Given the description of an element on the screen output the (x, y) to click on. 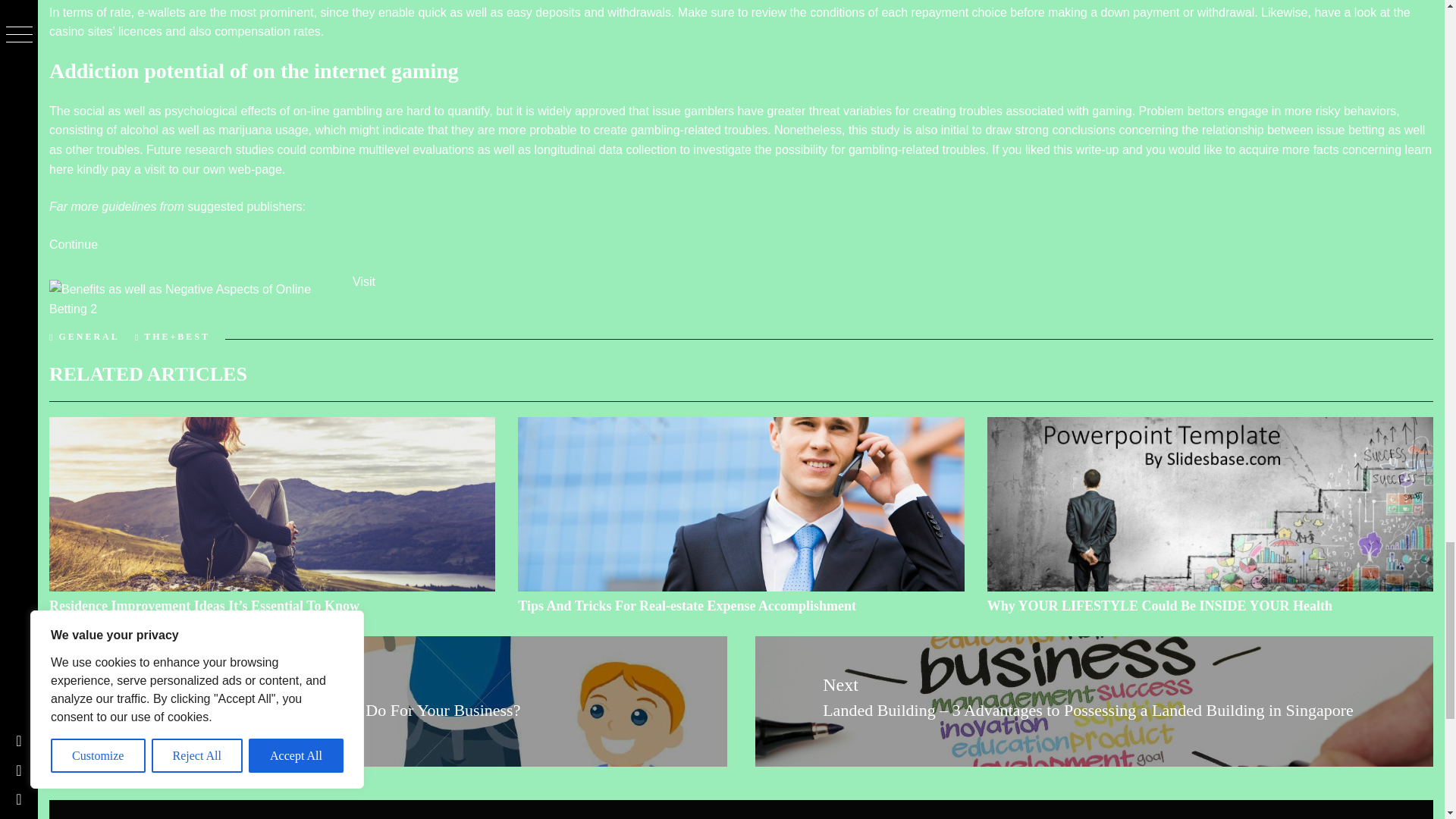
Continue (73, 244)
learn here (740, 159)
Visit (363, 281)
GENERAL (88, 336)
psychological effects (220, 110)
